Given the description of an element on the screen output the (x, y) to click on. 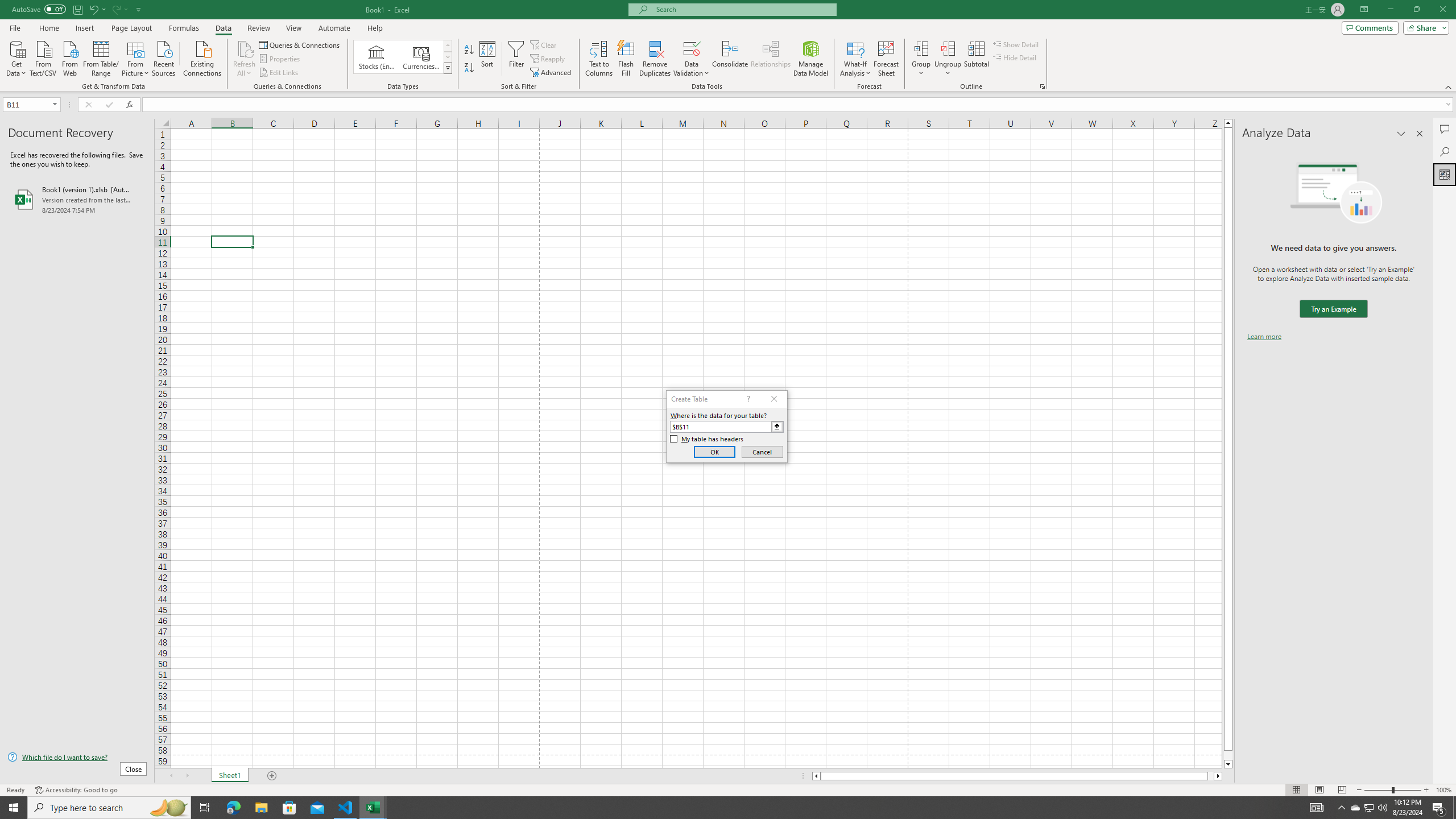
Learn more (1264, 336)
Show Detail (1016, 44)
What-If Analysis (855, 58)
Text to Columns... (598, 58)
AutomationID: ConvertToLinkedEntity (403, 56)
Stocks (English) (375, 56)
Consolidate... (729, 58)
Analyze Data (1444, 173)
From Web (69, 57)
